Given the description of an element on the screen output the (x, y) to click on. 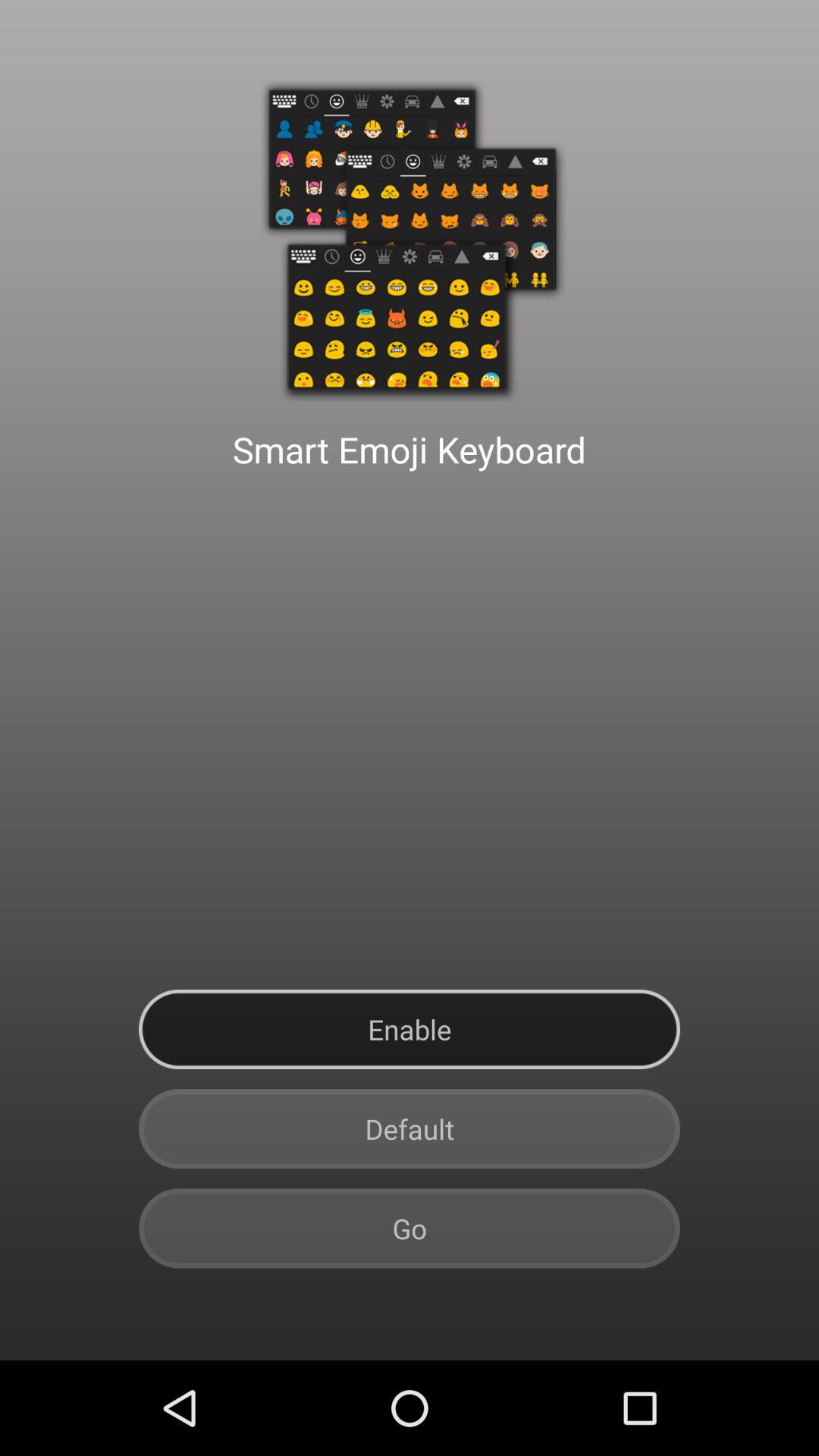
launch item above go item (409, 1128)
